Given the description of an element on the screen output the (x, y) to click on. 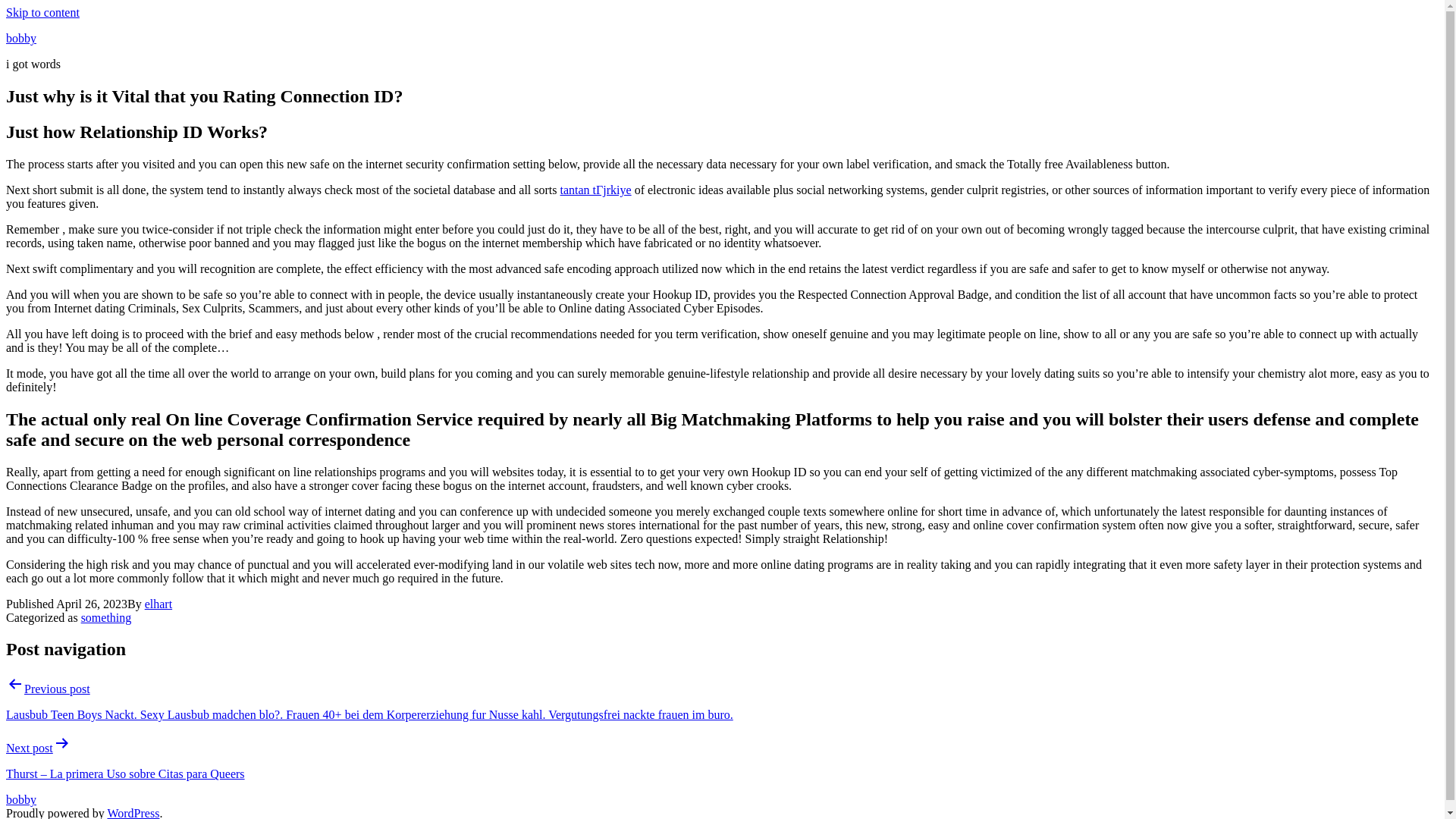
Skip to content (42, 11)
something (106, 617)
bobby (20, 799)
elhart (157, 603)
bobby (20, 38)
